Given the description of an element on the screen output the (x, y) to click on. 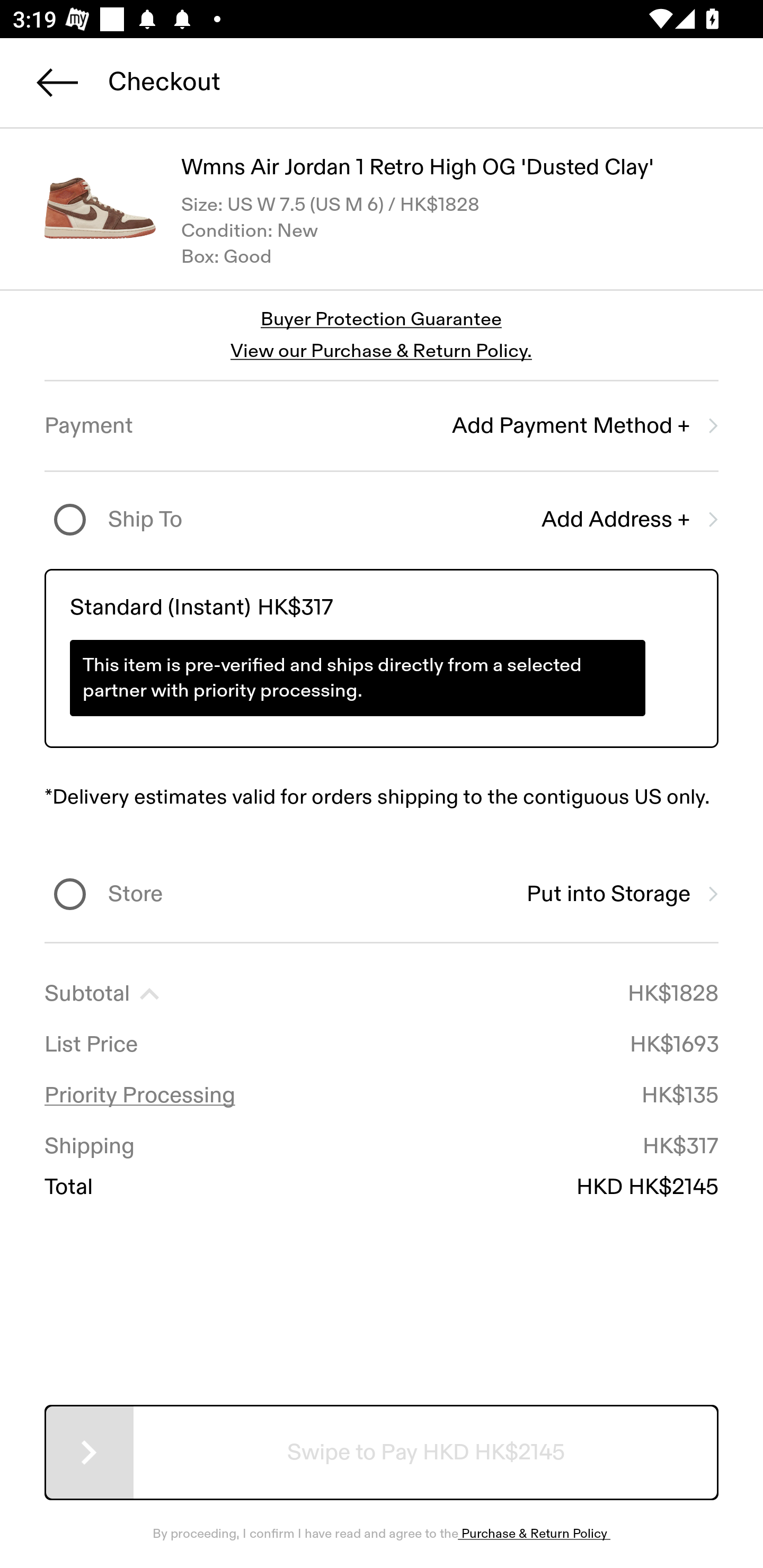
Navigate up (56, 82)
Buyer Protection Guarantee (381, 319)
View our Purchase & Return Policy. (380, 350)
Payment Add Payment Method + (381, 425)
Subtotal HK$1828 (381, 994)
Priority Processing HK$135 (381, 1095)
